Given the description of an element on the screen output the (x, y) to click on. 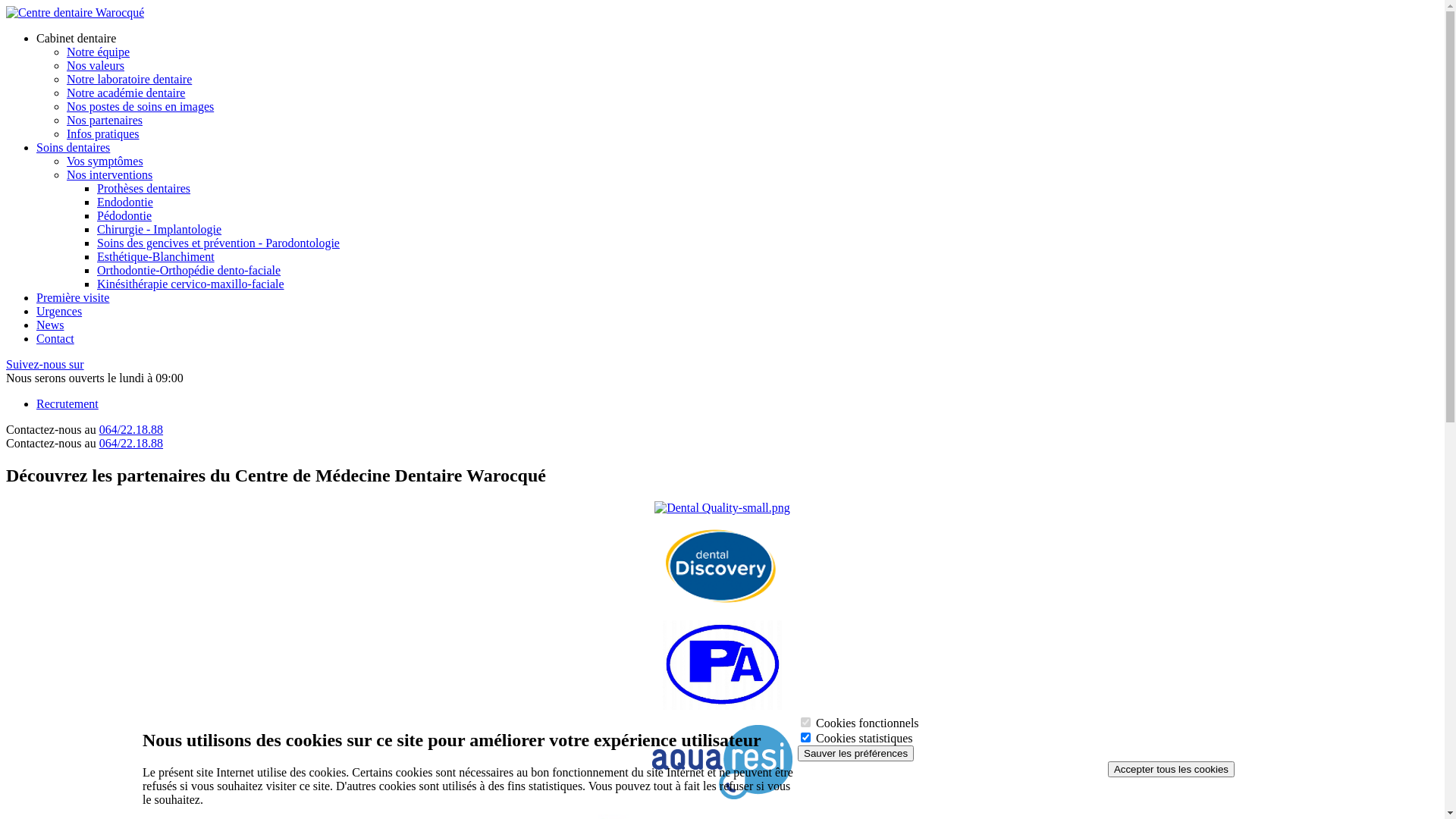
Suivez-nous sur Element type: text (45, 363)
Recrutement Element type: text (67, 403)
News Element type: text (49, 324)
Chirurgie - Implantologie Element type: text (159, 228)
Contact Element type: text (55, 338)
064/22.18.88 Element type: text (131, 429)
Nos partenaires Element type: text (104, 119)
Retirer le consentement Element type: text (1240, 763)
Urgences Element type: text (58, 310)
Soins dentaires Element type: text (72, 147)
Endodontie Element type: text (125, 201)
Infos pratiques Element type: text (102, 133)
Nos postes de soins en images Element type: text (139, 106)
Notre laboratoire dentaire Element type: text (128, 78)
064/22.18.88 Element type: text (131, 442)
Nos valeurs Element type: text (95, 65)
Nos interventions Element type: text (109, 174)
Accepter tous les cookies Element type: text (1170, 769)
